Given the description of an element on the screen output the (x, y) to click on. 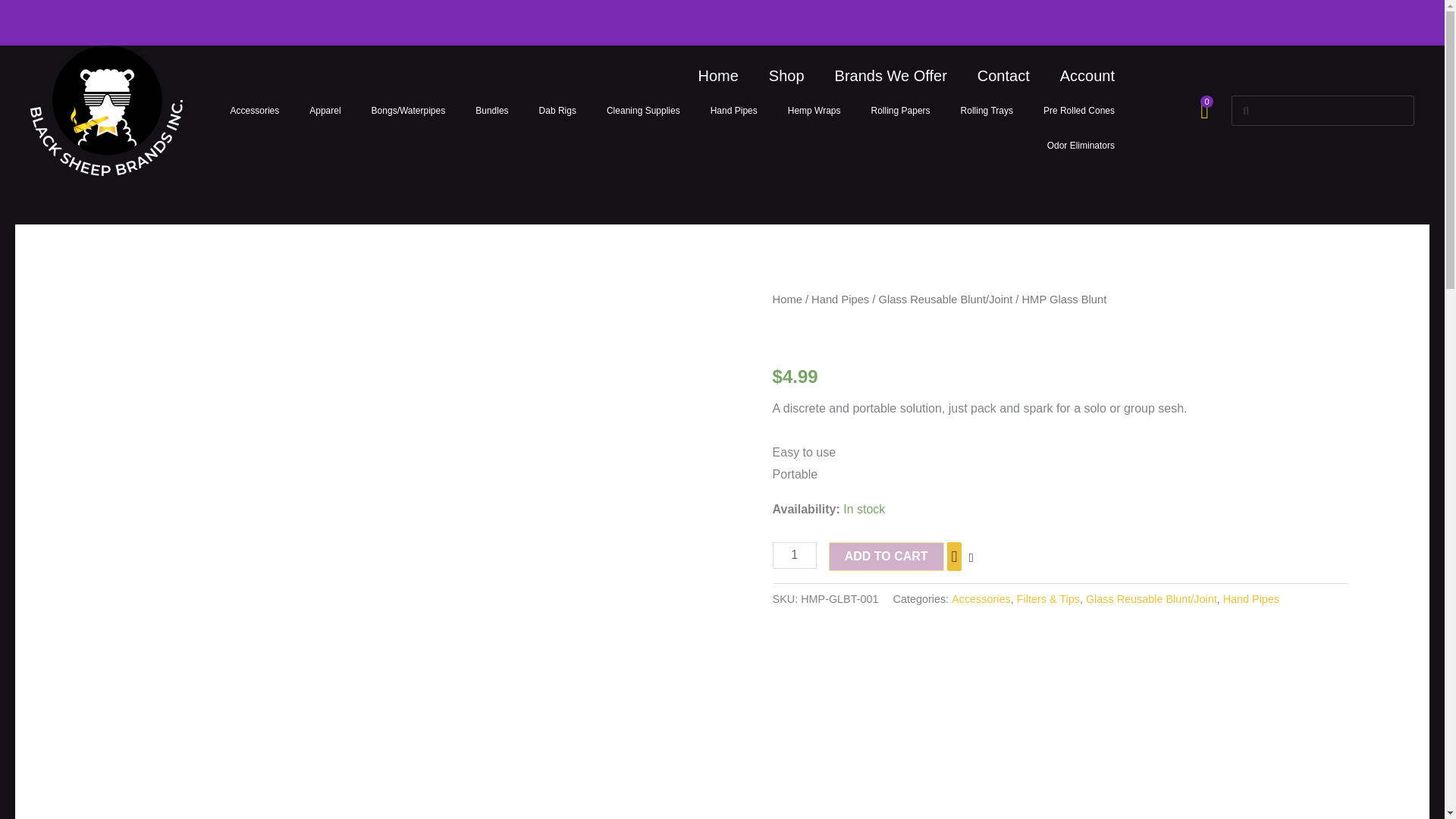
Home (717, 75)
Contact (1003, 75)
1 (794, 555)
Account (1087, 75)
Shop (786, 75)
Brands We Offer (890, 75)
